Given the description of an element on the screen output the (x, y) to click on. 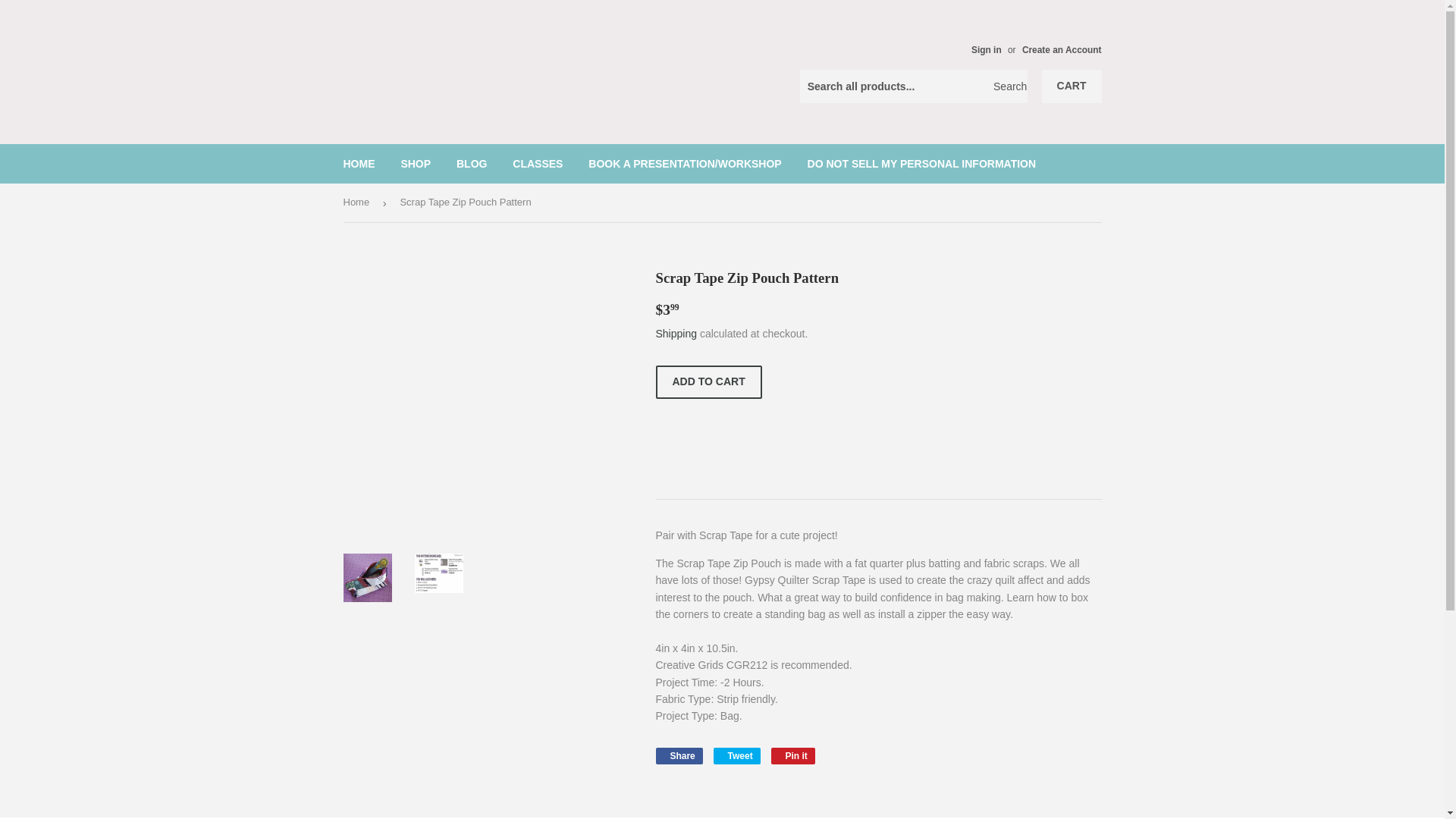
Search (1009, 87)
Back to the frontpage (358, 202)
Create an Account (736, 755)
Shipping (1062, 50)
Sign in (676, 333)
Pin on Pinterest (986, 50)
BLOG (793, 755)
HOME (471, 163)
ADD TO CART (793, 755)
CLASSES (359, 163)
Share on Facebook (708, 381)
SHOP (536, 163)
